Given the description of an element on the screen output the (x, y) to click on. 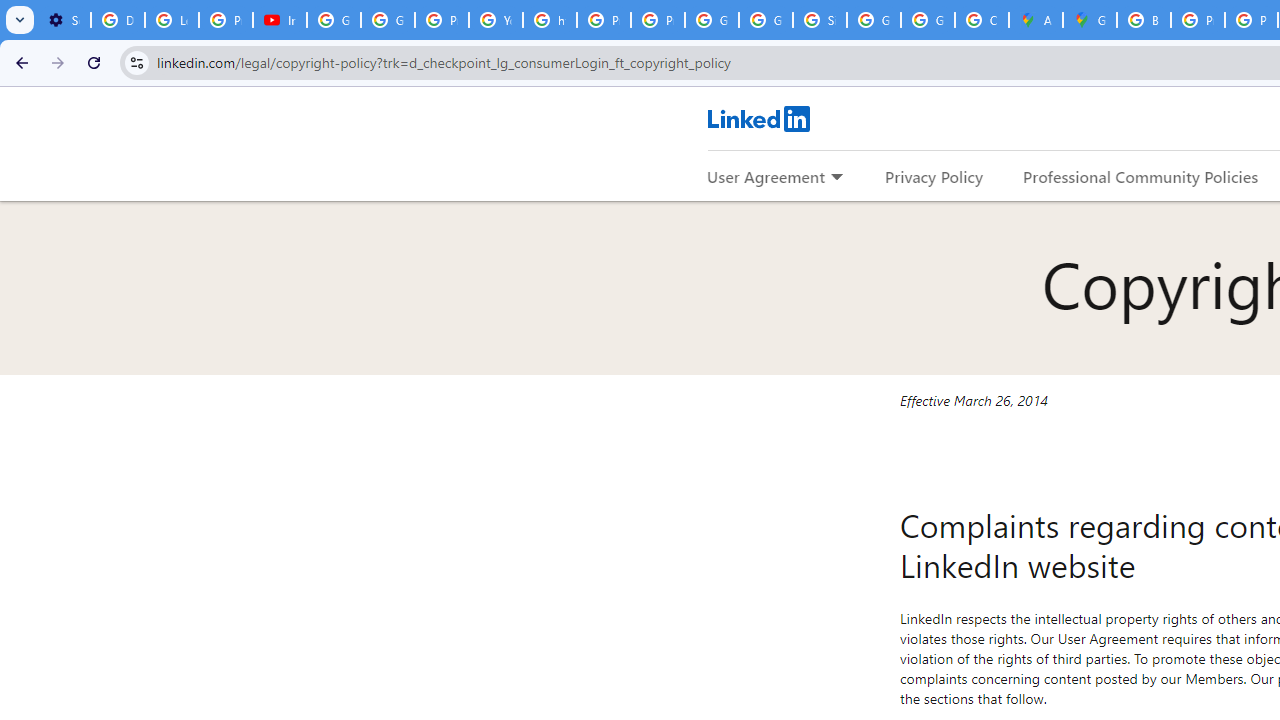
Privacy Help Center - Policies Help (1197, 20)
Privacy Help Center - Policies Help (441, 20)
